Given the description of an element on the screen output the (x, y) to click on. 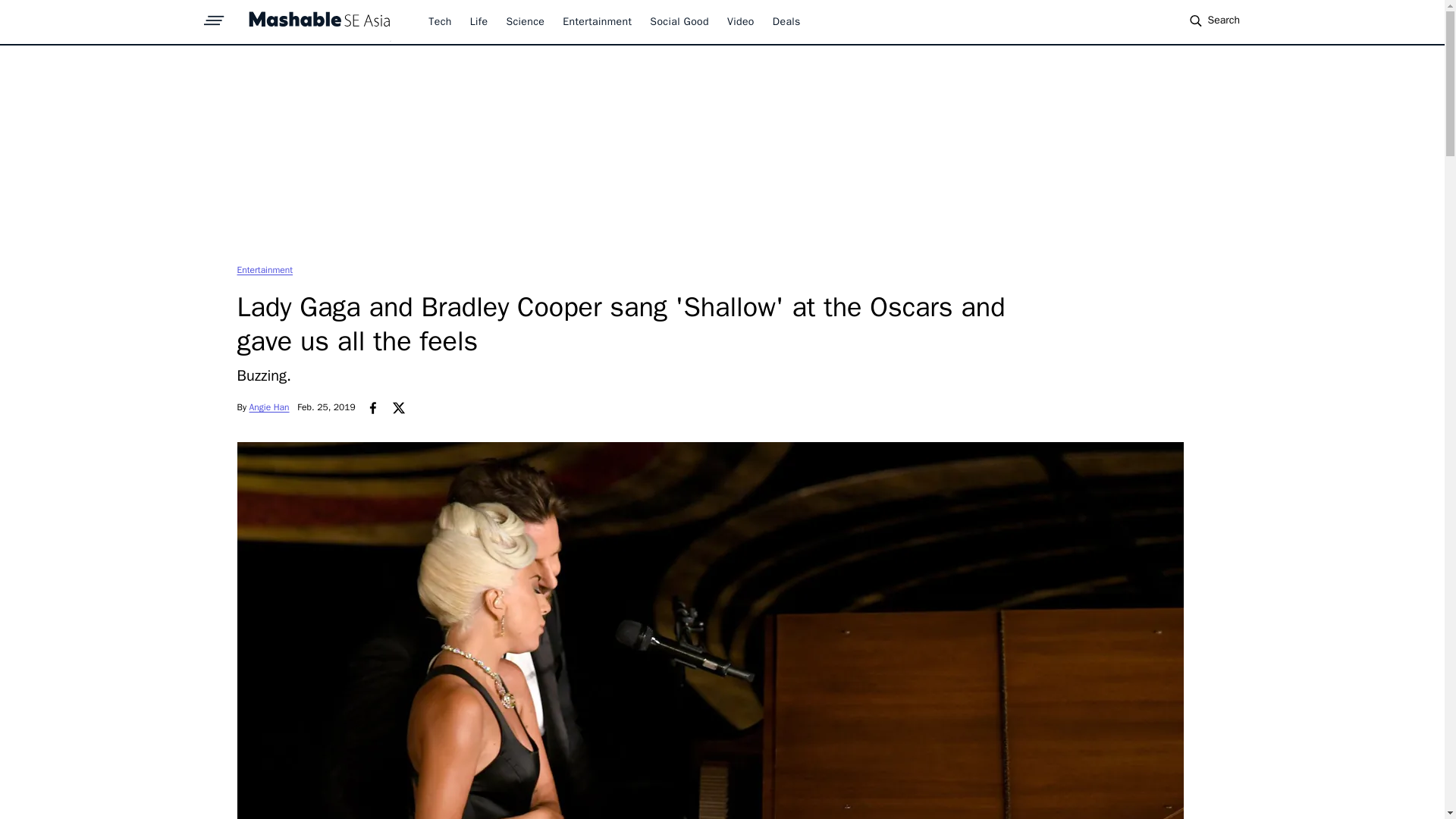
Deals (786, 21)
Video (740, 21)
Entertainment (596, 21)
Entertainment (263, 269)
Social Good (679, 21)
Tech (439, 21)
3rd party ad content (721, 153)
Science (524, 21)
Angie Han (268, 407)
Entertainment (263, 269)
Life (478, 21)
sprite-hamburger (213, 16)
